Given the description of an element on the screen output the (x, y) to click on. 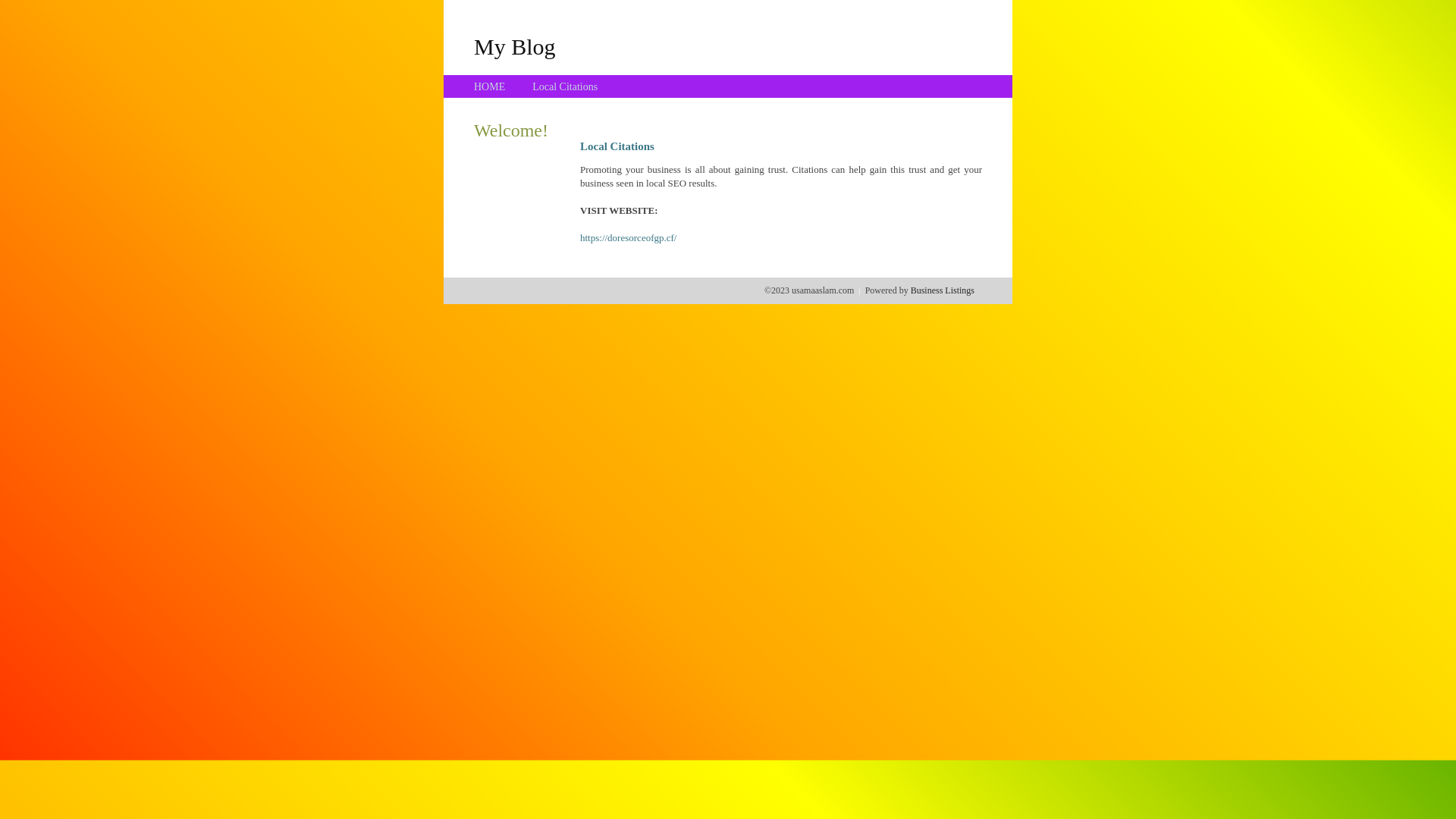
My Blog Element type: text (514, 46)
HOME Element type: text (489, 86)
Local Citations Element type: text (564, 86)
Business Listings Element type: text (942, 290)
https://doresorceofgp.cf/ Element type: text (628, 237)
